Given the description of an element on the screen output the (x, y) to click on. 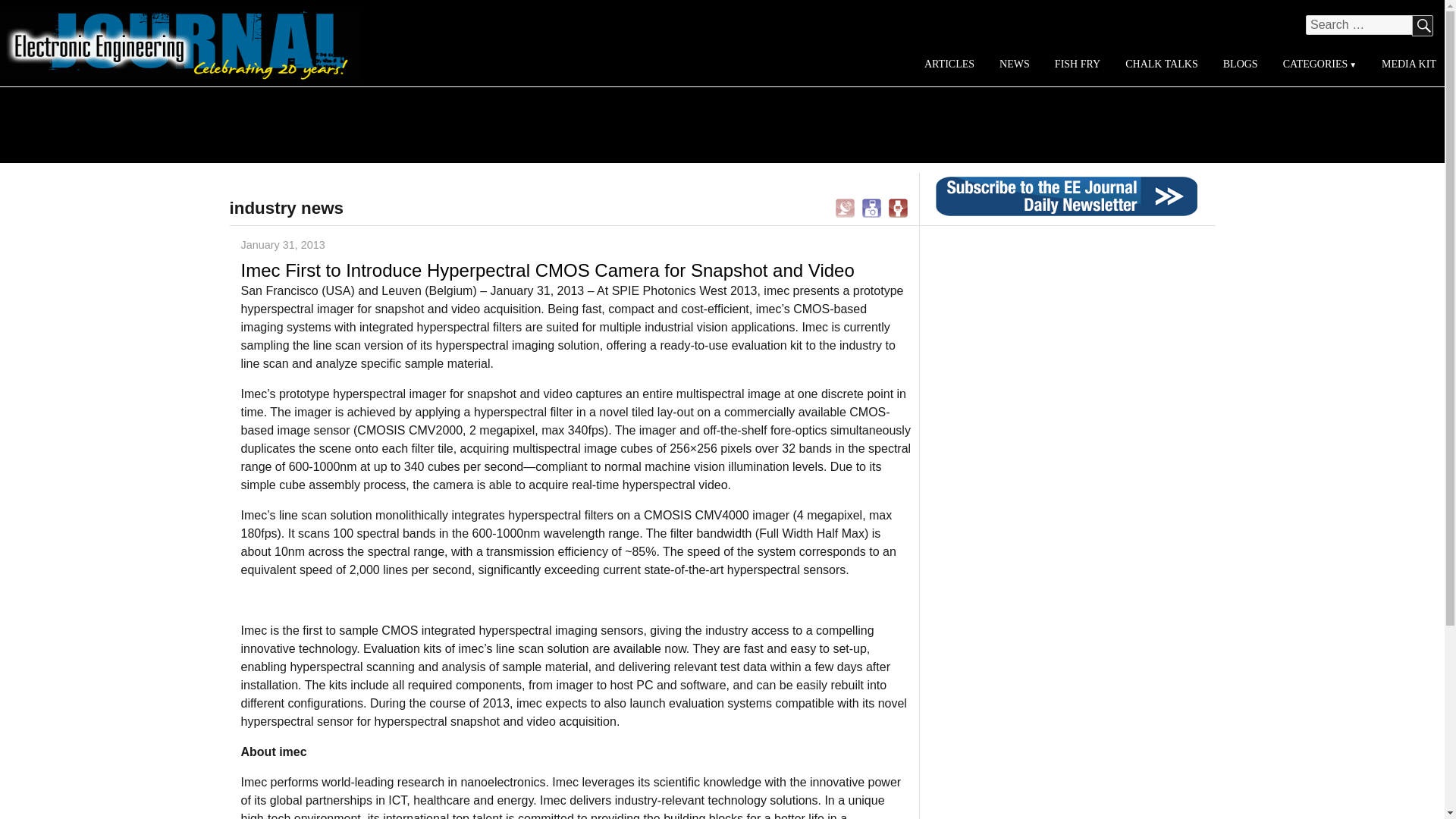
NEWS (1014, 63)
BLOGS (1239, 63)
Embedded (898, 206)
FISH FRY (1077, 63)
Communications (845, 206)
ARTICLES (949, 63)
Consumer Electronics (872, 206)
CHALK TALKS (1161, 63)
CATEGORIES (1318, 63)
